Given the description of an element on the screen output the (x, y) to click on. 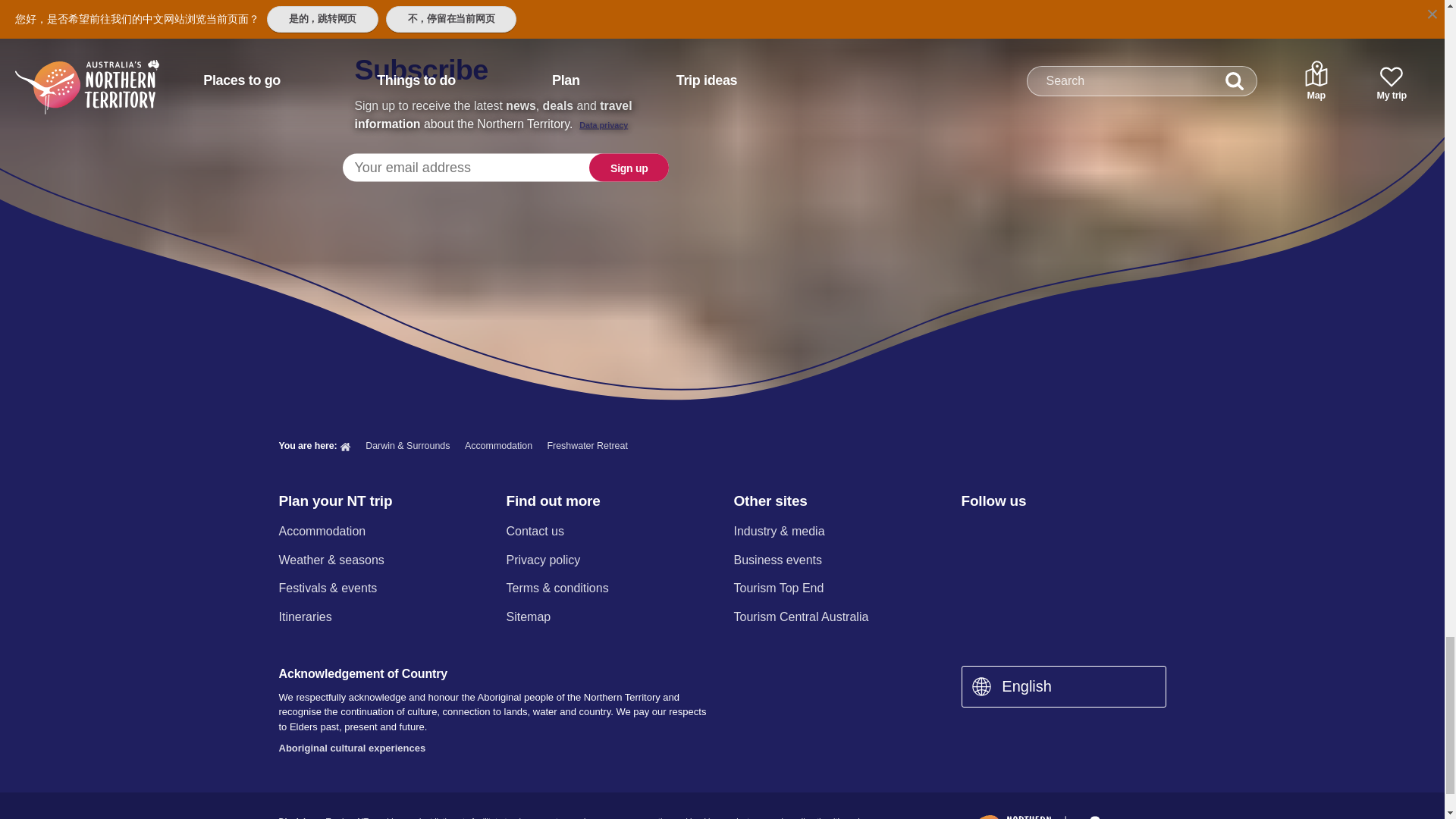
Instagram (1009, 533)
Twitter (1050, 533)
Trip Advisor (1129, 533)
Facebook (970, 533)
YouTube (1089, 533)
